Given the description of an element on the screen output the (x, y) to click on. 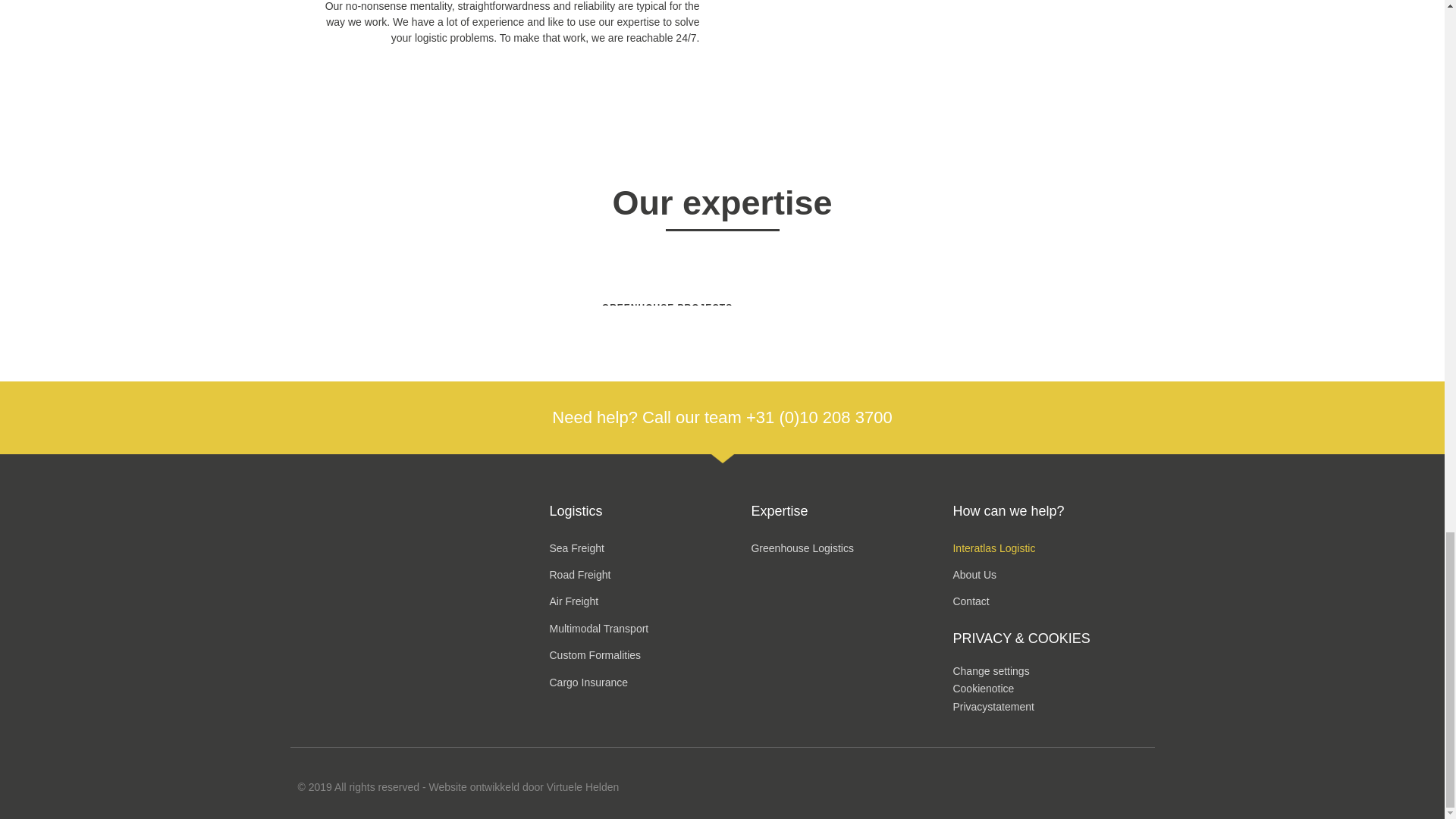
Cookienotice (982, 688)
Change settings (990, 671)
About Us (1053, 574)
Greenhouse Logistics (851, 548)
Sea Freight (649, 548)
Privacystatement (992, 706)
Contact (1053, 601)
Virtuele Helden (582, 787)
Road Freight (649, 574)
Air Freight (649, 601)
